Given the description of an element on the screen output the (x, y) to click on. 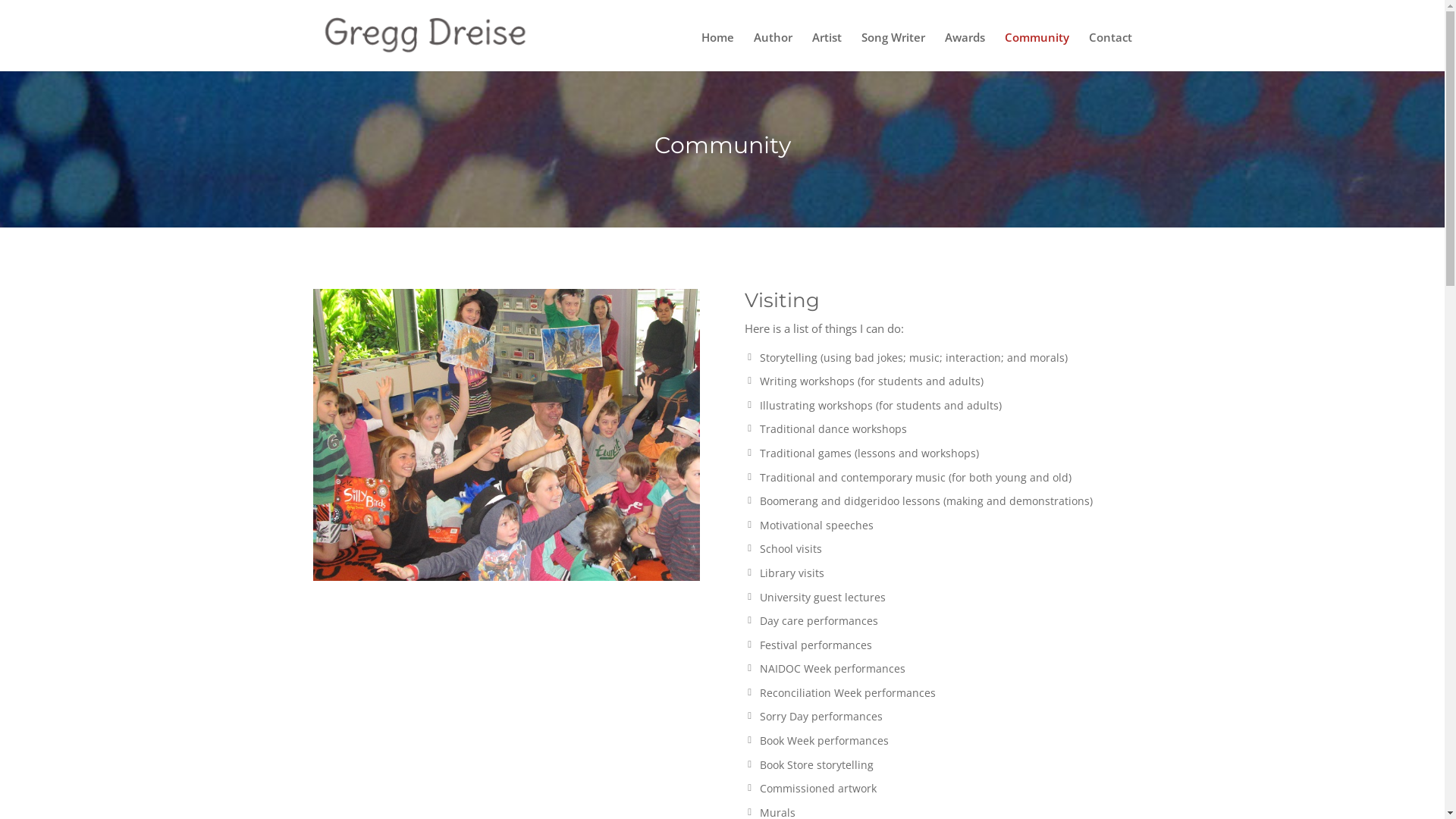
Community Element type: text (1036, 50)
Song Writer Element type: text (893, 50)
Author Element type: text (772, 50)
Awards Element type: text (964, 50)
Contact Element type: text (1110, 50)
Home Element type: text (716, 50)
Artist Element type: text (825, 50)
